Given the description of an element on the screen output the (x, y) to click on. 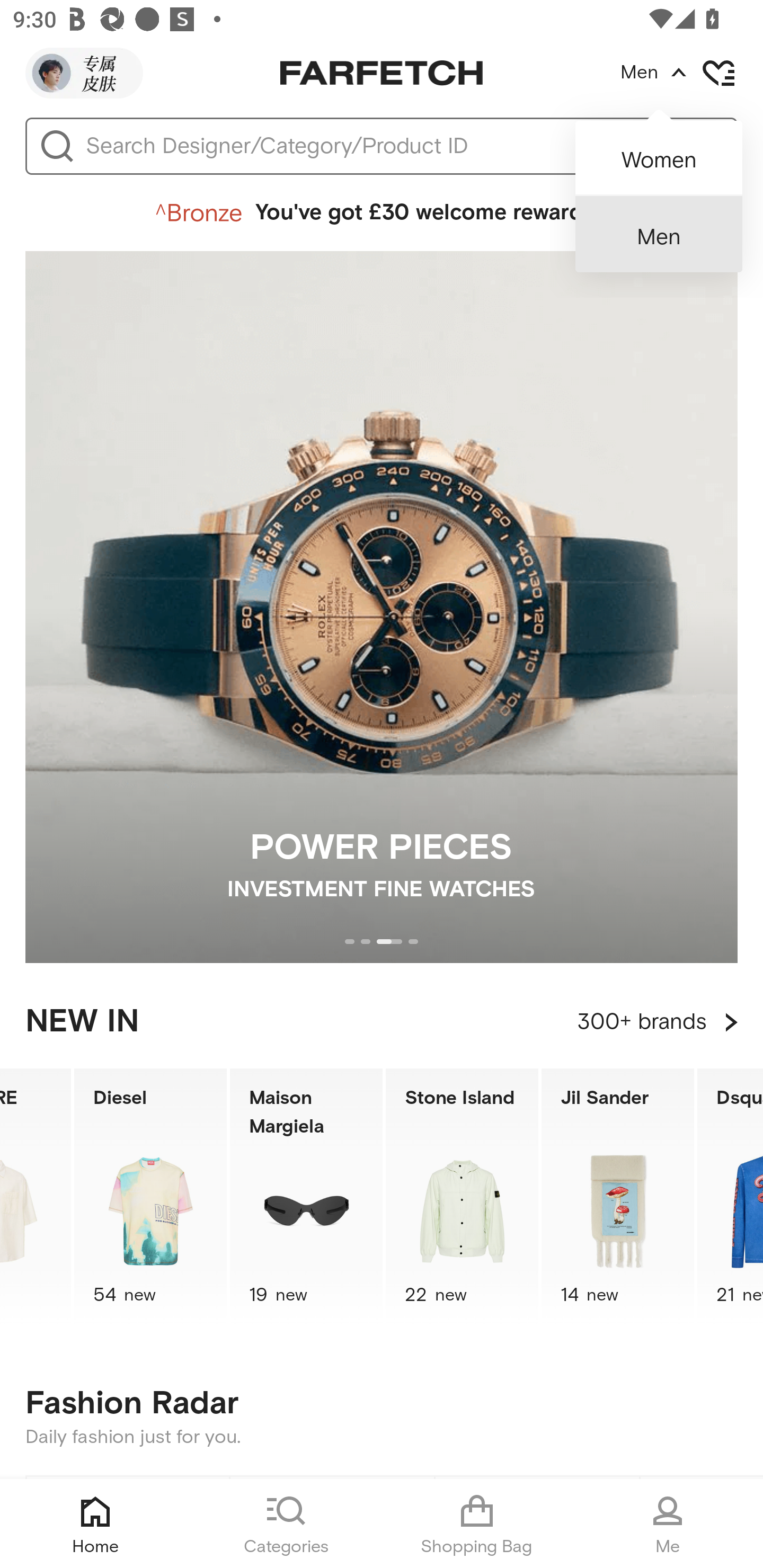
Women (658, 151)
Men (658, 234)
